Given the description of an element on the screen output the (x, y) to click on. 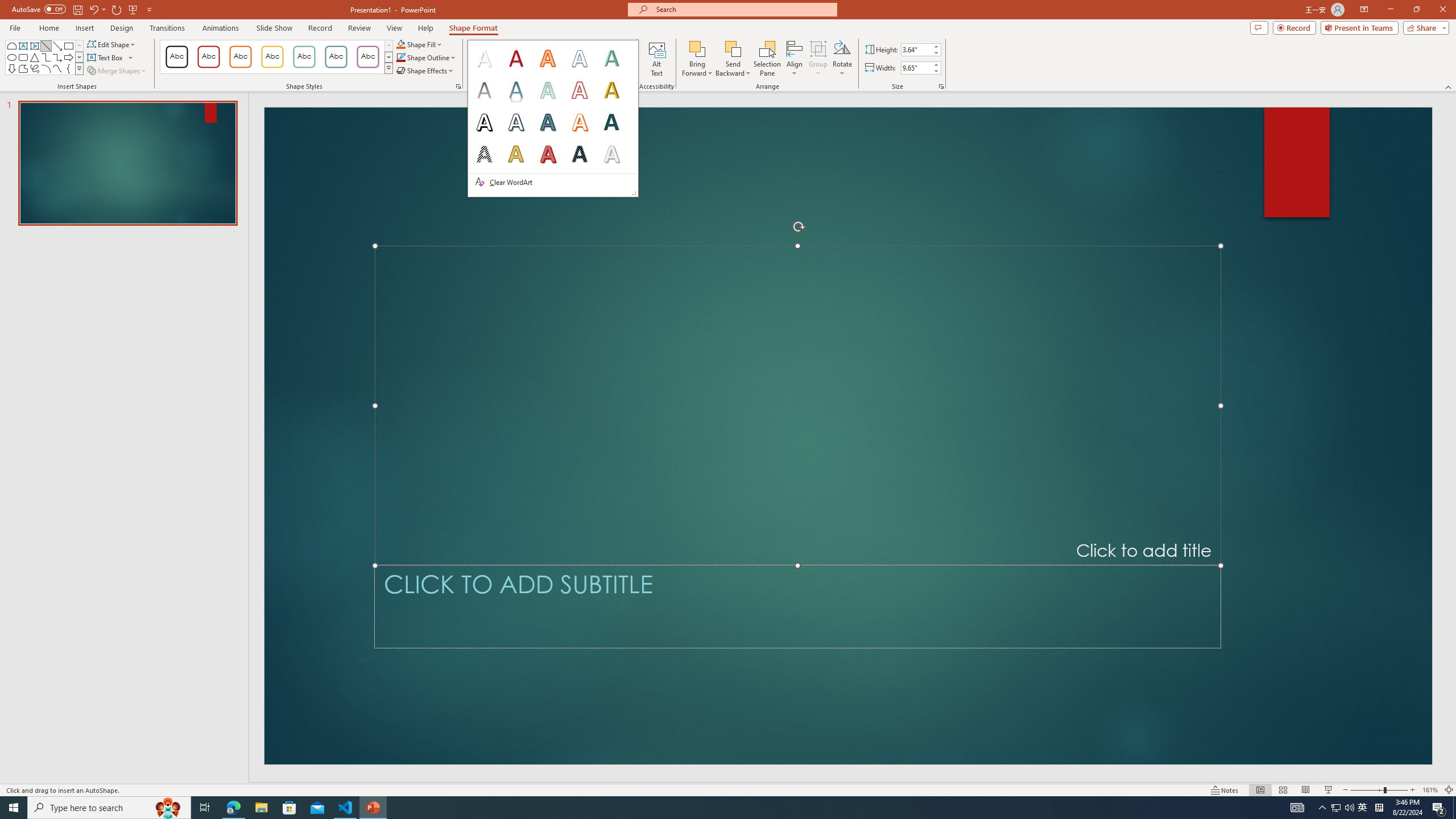
Group (817, 58)
Draw Horizontal Text Box (105, 56)
Colored Outline - Gold, Accent 3 (272, 56)
